Given the description of an element on the screen output the (x, y) to click on. 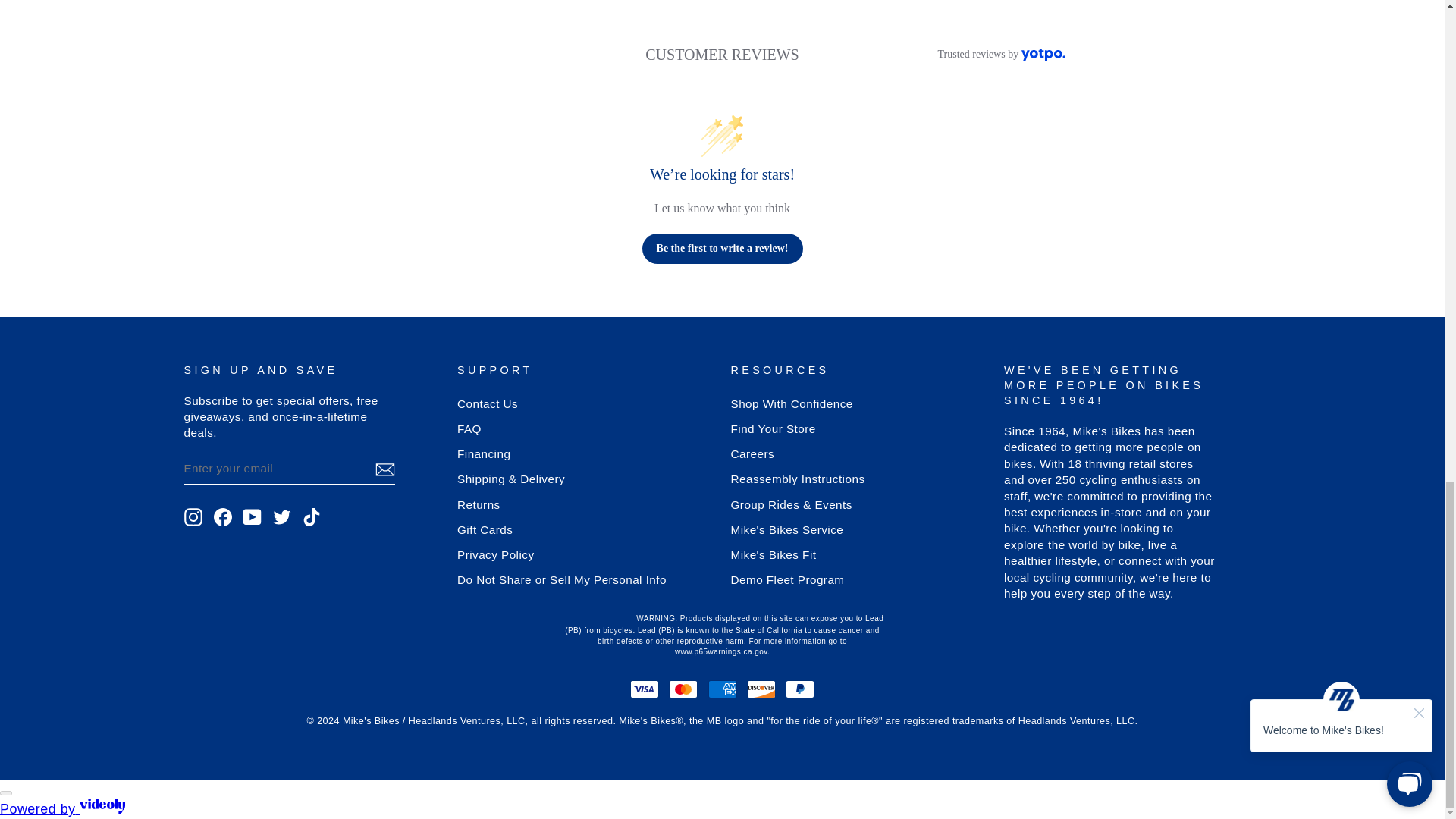
Mastercard (682, 689)
Mike's Bikes on YouTube (251, 516)
Mike's Bikes on Twitter (282, 516)
American Express (721, 689)
Mike's Bikes on Instagram (192, 516)
PayPal (799, 689)
Discover (761, 689)
Mike's Bikes on TikTok (310, 516)
Visa (644, 689)
Mike's Bikes on Facebook (222, 516)
